Given the description of an element on the screen output the (x, y) to click on. 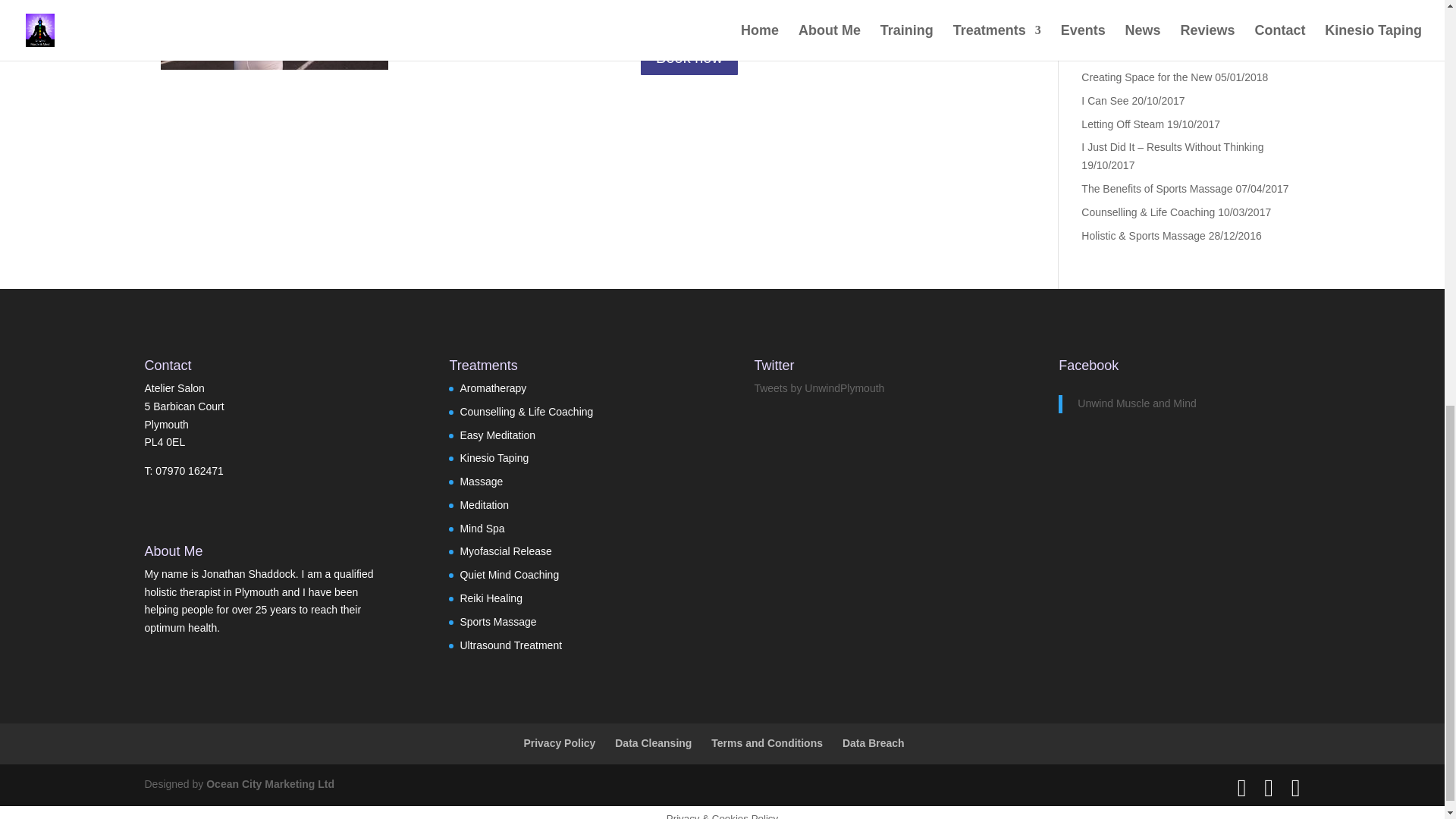
Book now (689, 57)
Web Design Plymouth (270, 784)
